Given the description of an element on the screen output the (x, y) to click on. 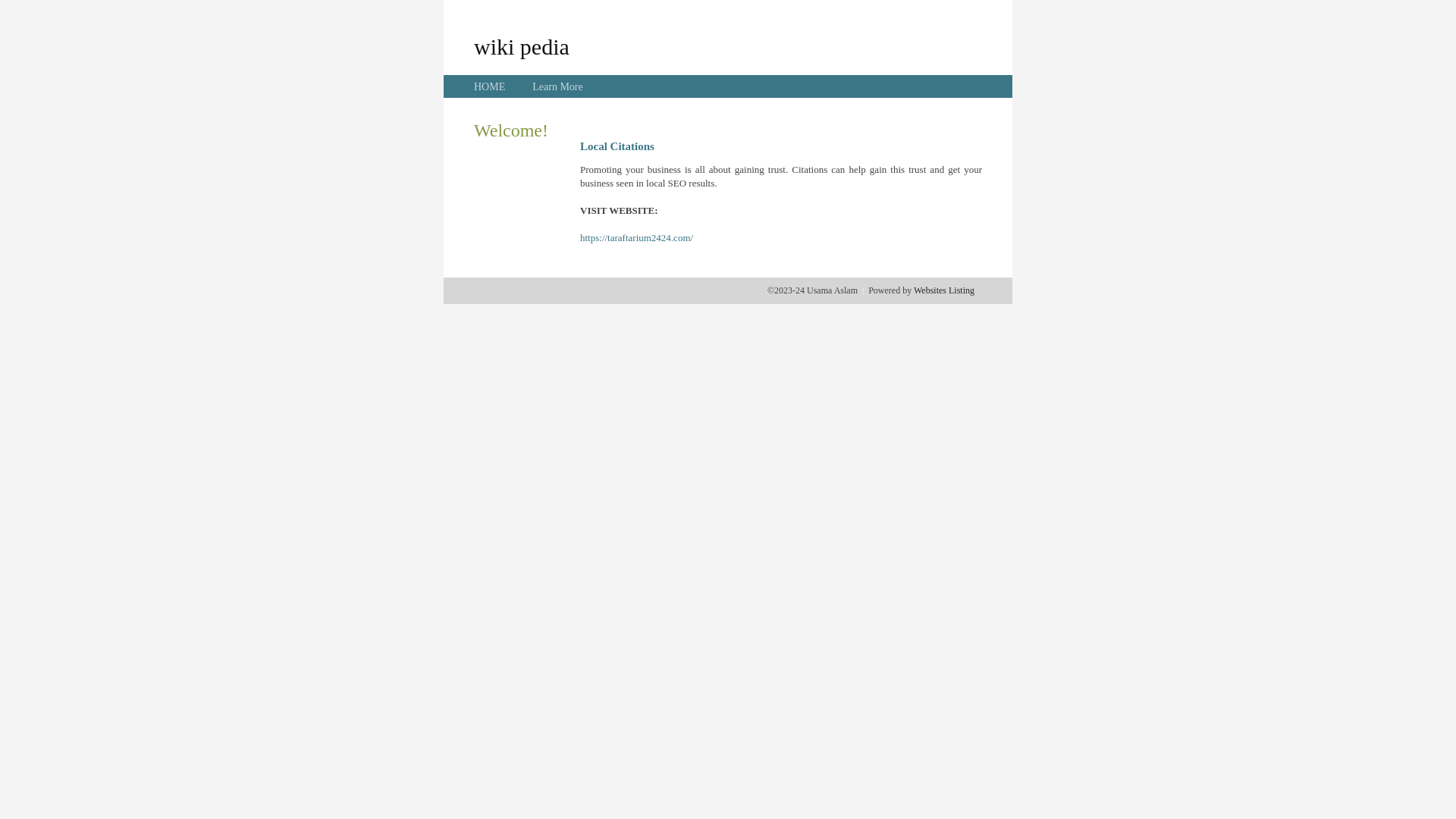
Websites Listing Element type: text (943, 290)
https://taraftarium2424.com/ Element type: text (636, 237)
wiki pedia Element type: text (521, 46)
Learn More Element type: text (557, 86)
HOME Element type: text (489, 86)
